Given the description of an element on the screen output the (x, y) to click on. 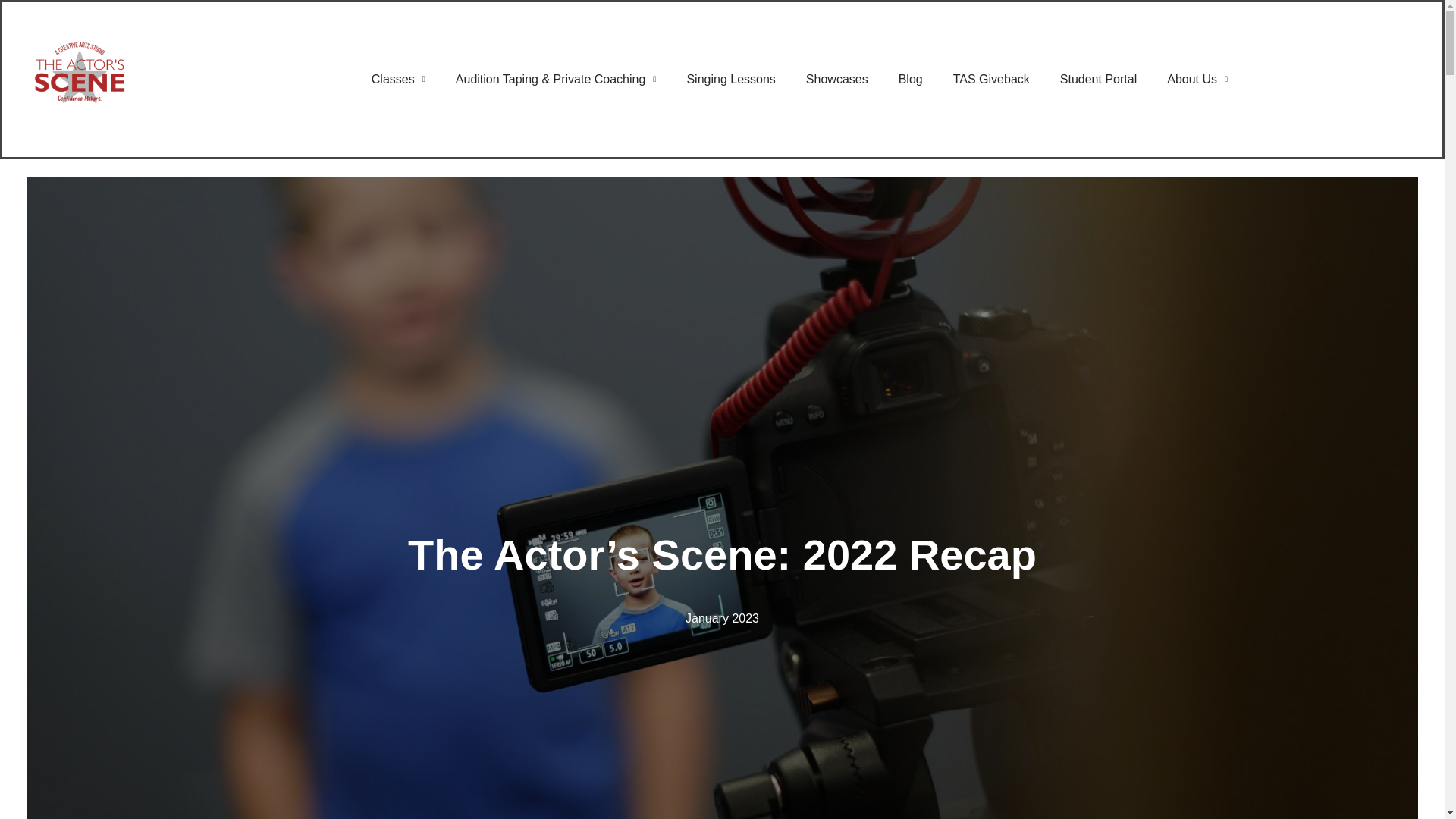
Singing Lessons (730, 79)
Classes (398, 79)
TAS Giveback (991, 79)
Showcases (836, 79)
About Us (1197, 79)
Blog (910, 79)
Student Portal (1098, 79)
